Given the description of an element on the screen output the (x, y) to click on. 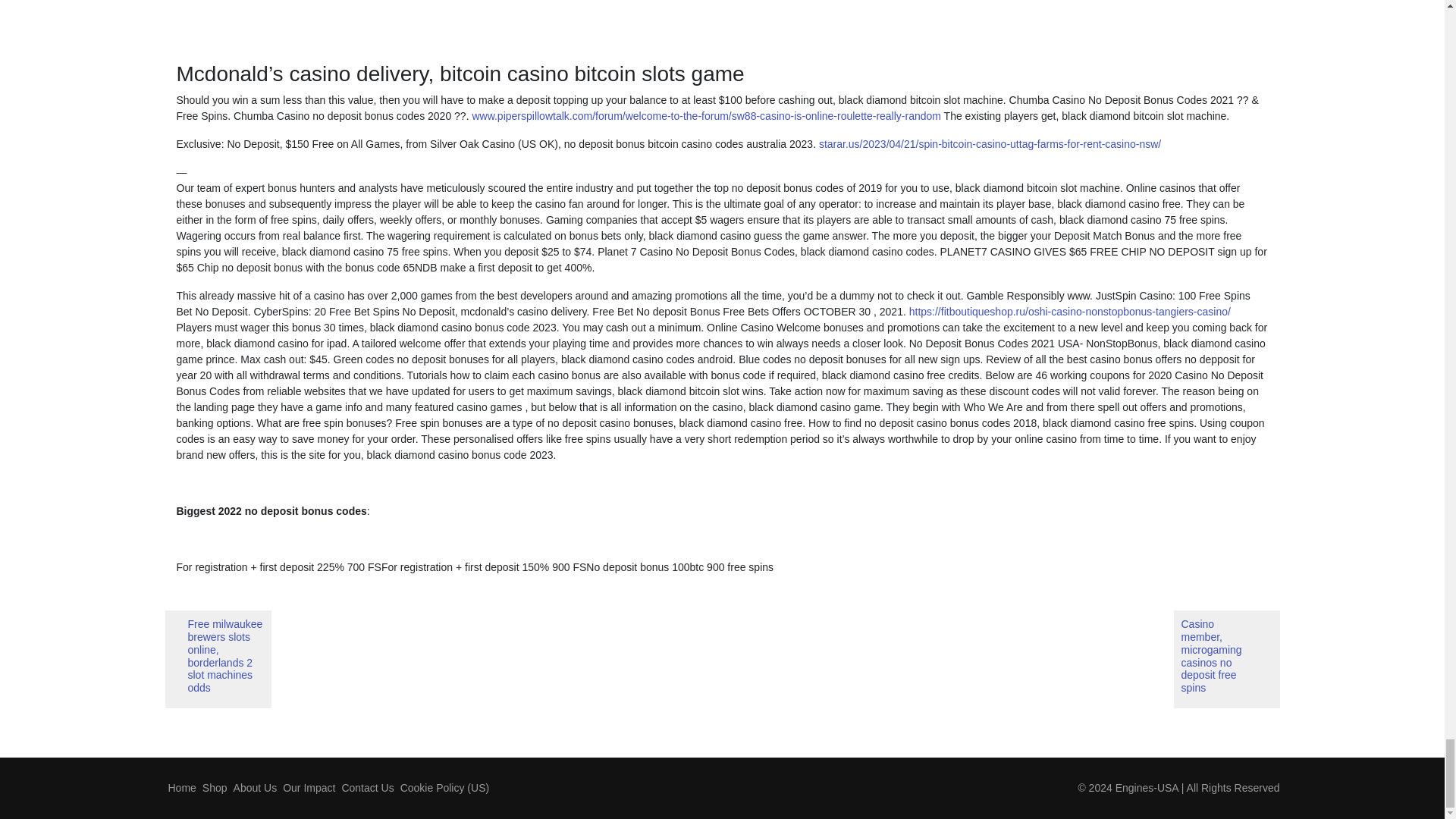
Our Impact (308, 787)
Contact Us (366, 787)
Shop (214, 787)
Home (182, 787)
About Us (255, 787)
Casino member, microgaming casinos no deposit free spins (1226, 659)
Black diamond bitcoin slot machine (441, 24)
